Given the description of an element on the screen output the (x, y) to click on. 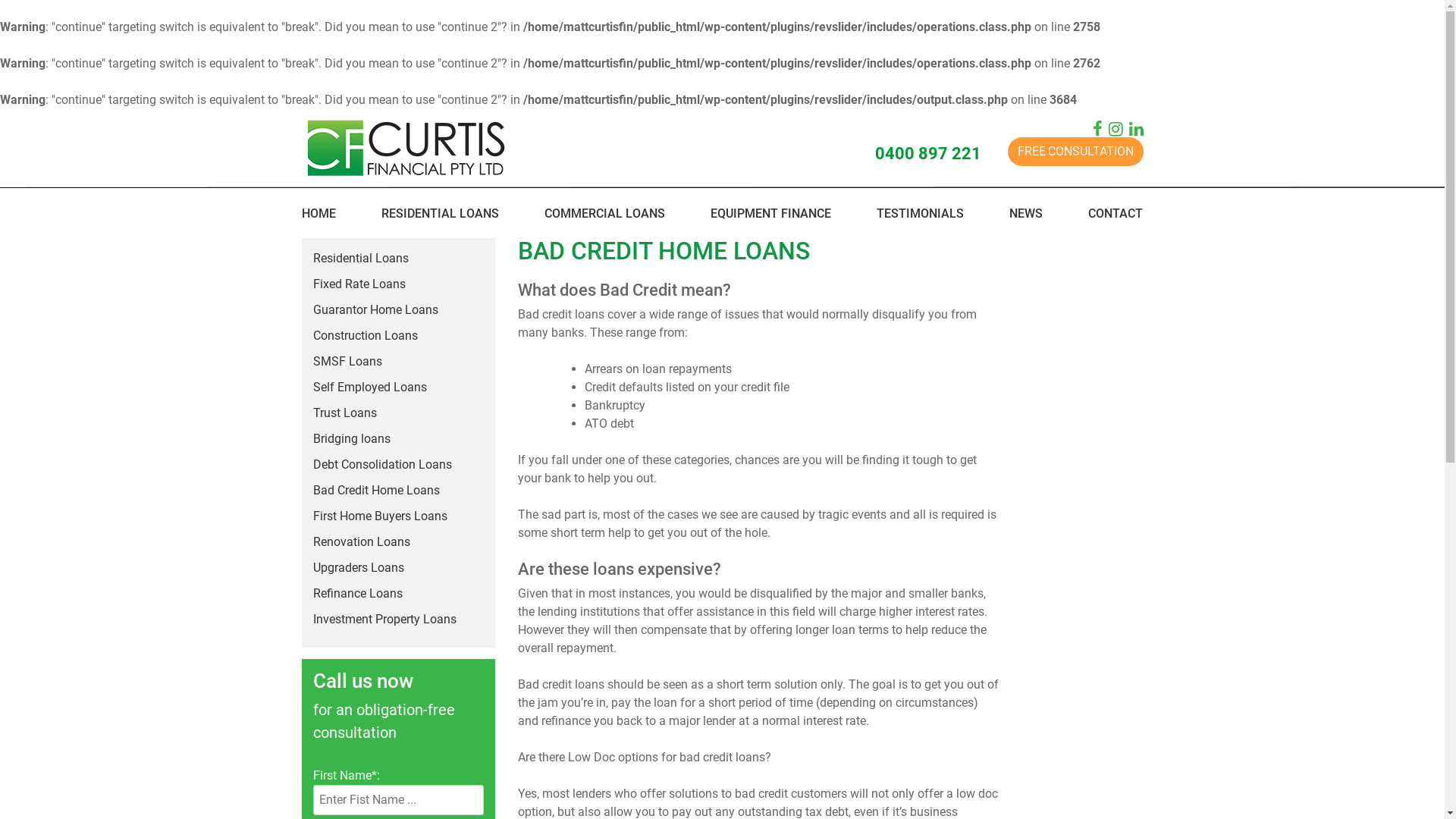
Debt Consolidation Loans Element type: text (376, 464)
SMSF Loans Element type: text (341, 361)
Residential Loans Element type: text (354, 258)
Guarantor Home Loans Element type: text (369, 309)
Bad Credit Home Loans Element type: text (370, 490)
Trust Loans Element type: text (338, 412)
Fixed Rate Loans Element type: text (353, 283)
EQUIPMENT FINANCE Element type: text (770, 213)
Refinance Loans Element type: text (351, 593)
NEWS Element type: text (1025, 213)
First Home Buyers Loans Element type: text (374, 515)
HOME Element type: text (318, 213)
Curtis Financial Element type: text (343, 196)
COMMERCIAL LOANS Element type: text (604, 213)
Renovation Loans Element type: text (355, 541)
Self Employed Loans Element type: text (363, 386)
FREECONSULTATION Element type: text (1074, 151)
Investment Property Loans Element type: text (378, 618)
Upgraders Loans Element type: text (352, 567)
TESTIMONIALS Element type: text (919, 213)
0400 897 221 Element type: text (941, 151)
Bridging loans Element type: text (345, 438)
RESIDENTIAL LOANS Element type: text (439, 213)
Construction Loans Element type: text (359, 335)
CONTACT Element type: text (1115, 213)
